Given the description of an element on the screen output the (x, y) to click on. 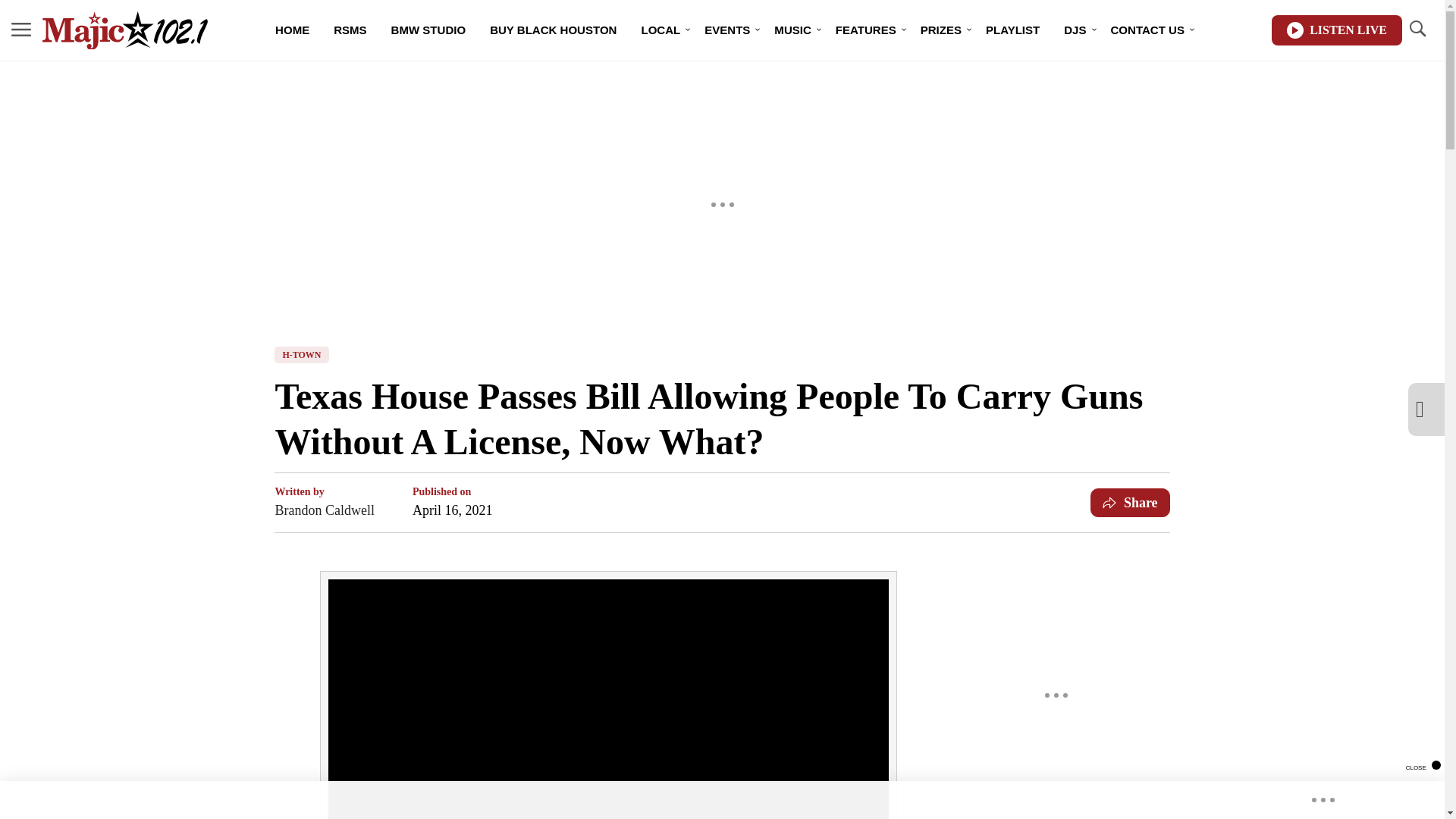
PRIZES (941, 30)
LOCAL (660, 30)
CONTACT US (1147, 30)
FEATURES (866, 30)
MENU (20, 29)
BMW STUDIO (428, 30)
HOME (292, 30)
EVENTS (727, 30)
RSMS (349, 30)
TOGGLE SEARCH (1417, 28)
PLAYLIST (1012, 30)
MUSIC (791, 30)
BUY BLACK HOUSTON (552, 30)
MENU (20, 30)
